Given the description of an element on the screen output the (x, y) to click on. 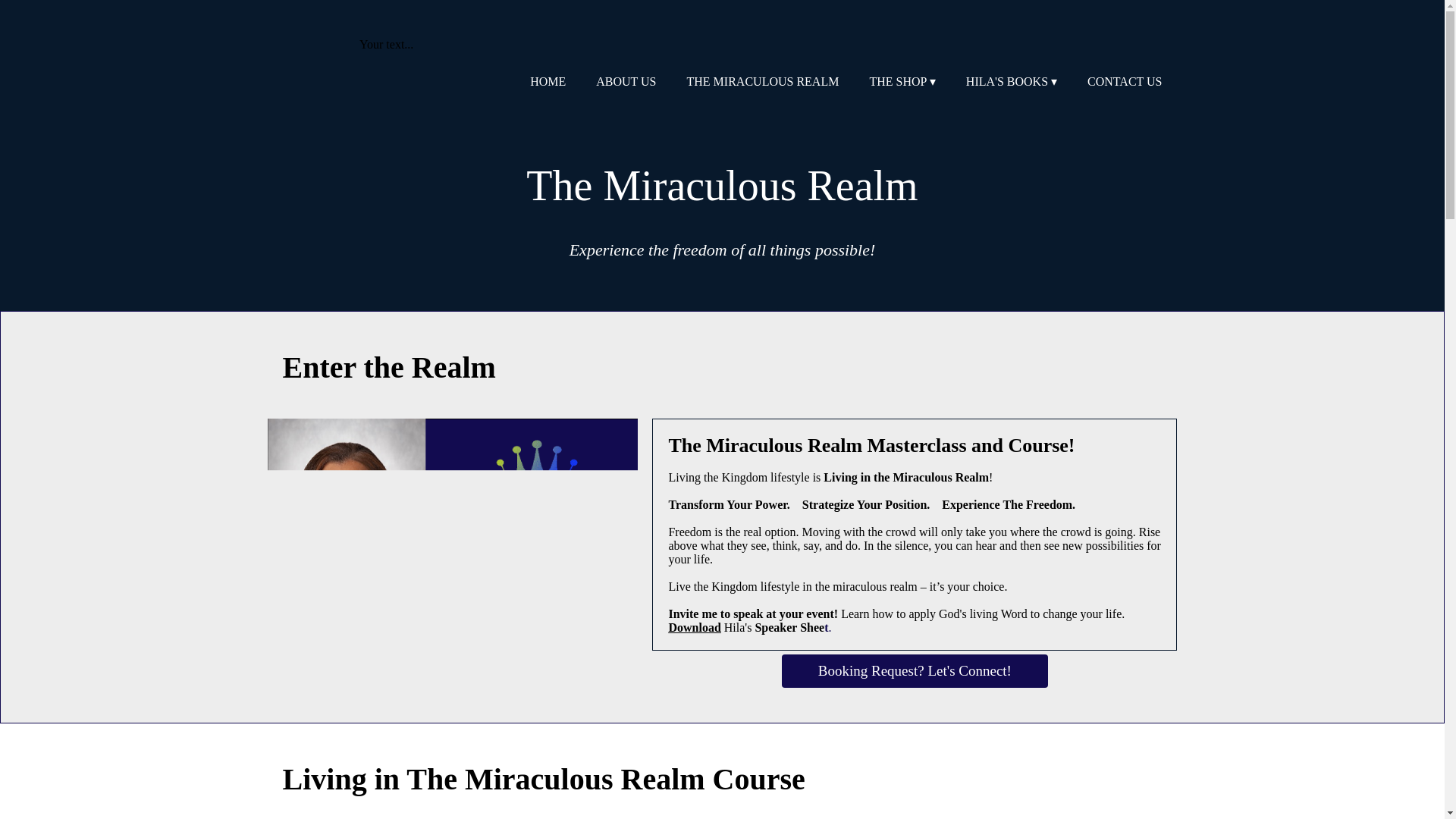
THE MIRACULOUS REALM (762, 81)
HOME (547, 81)
Booking Request? Let's Connect! (914, 670)
ABOUT US (625, 81)
CONTACT US (1123, 81)
Download (694, 626)
